Given the description of an element on the screen output the (x, y) to click on. 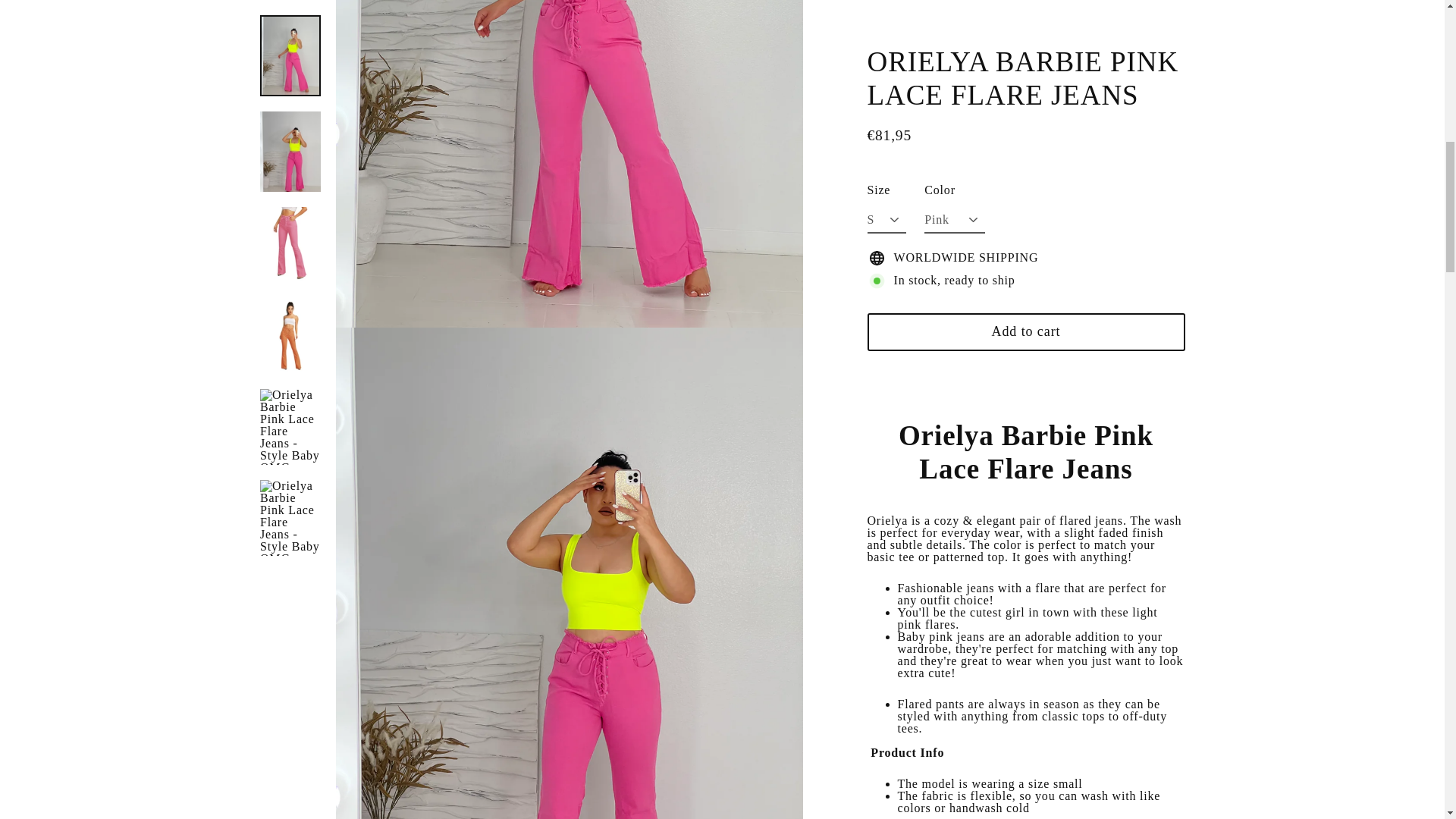
Tweet on Twitter (1025, 622)
Pin on Pinterest (1098, 622)
Share on Facebook (953, 622)
